Given the description of an element on the screen output the (x, y) to click on. 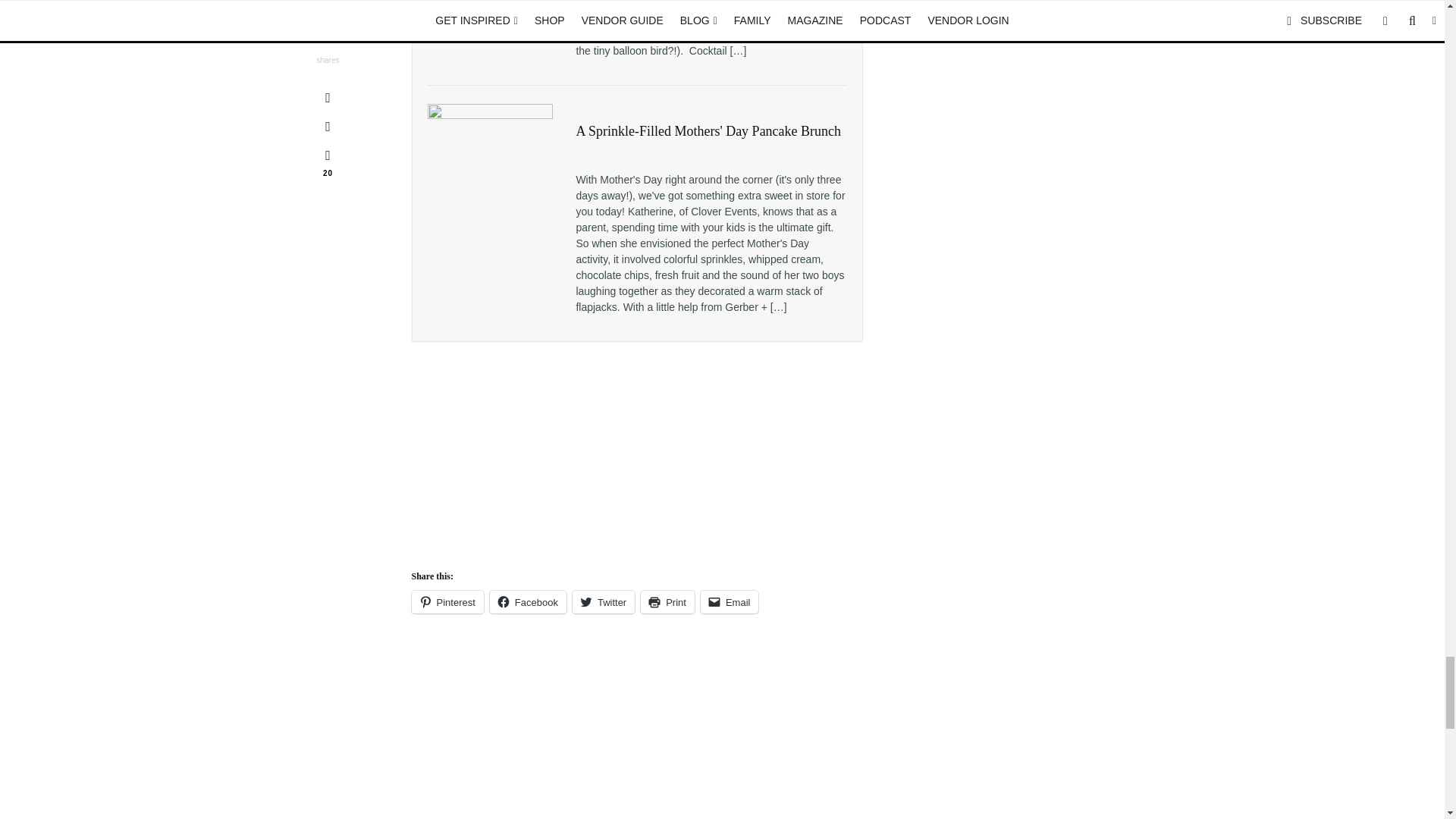
Click to share on Twitter (603, 601)
Click to share on Facebook (527, 601)
Click to print (667, 601)
Click to email a link to a friend (729, 601)
Click to share on Pinterest (446, 601)
